Given the description of an element on the screen output the (x, y) to click on. 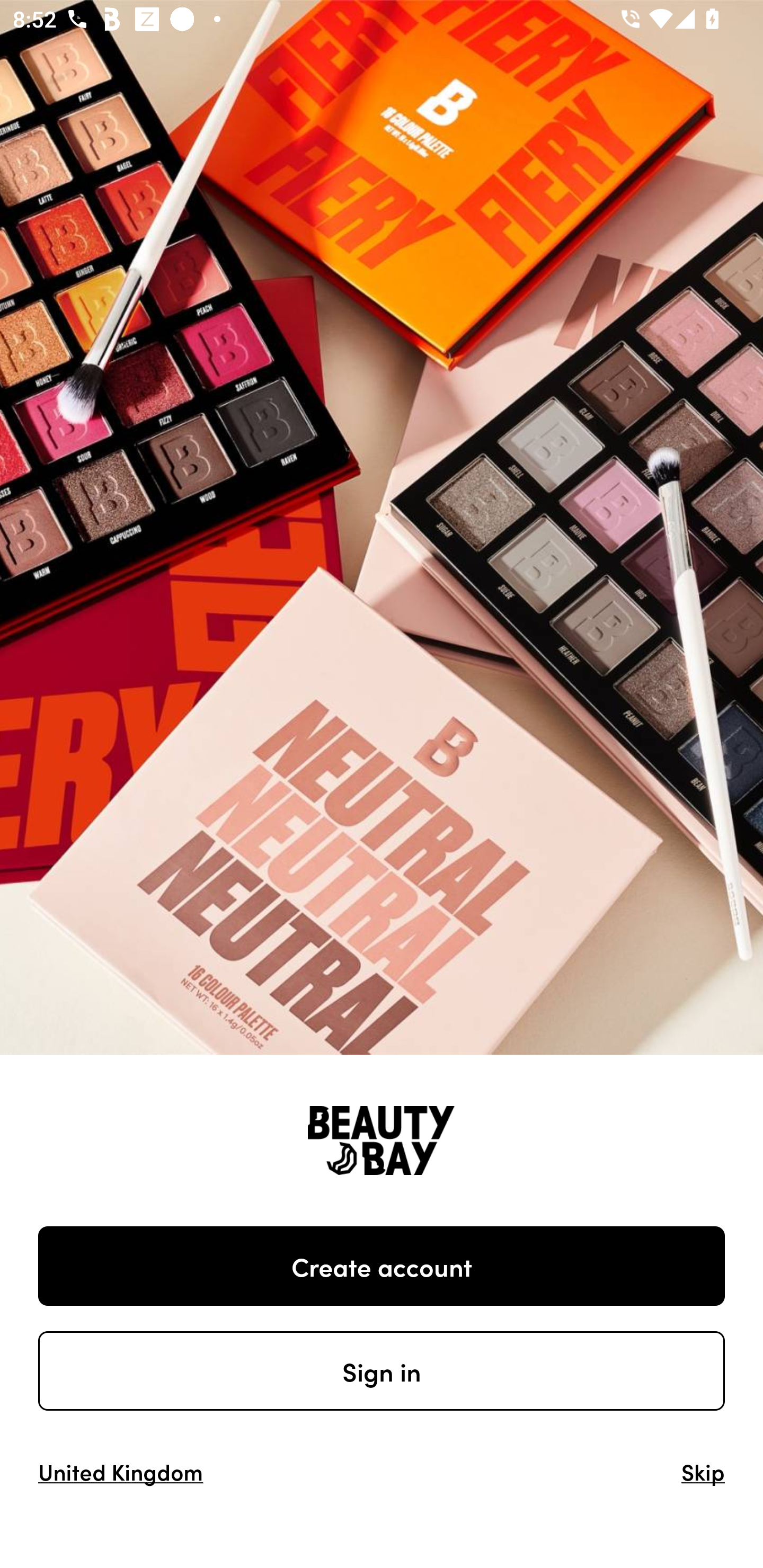
Create account (381, 1266)
Sign in (381, 1371)
United Kingdom (120, 1470)
Skip (702, 1470)
